Given the description of an element on the screen output the (x, y) to click on. 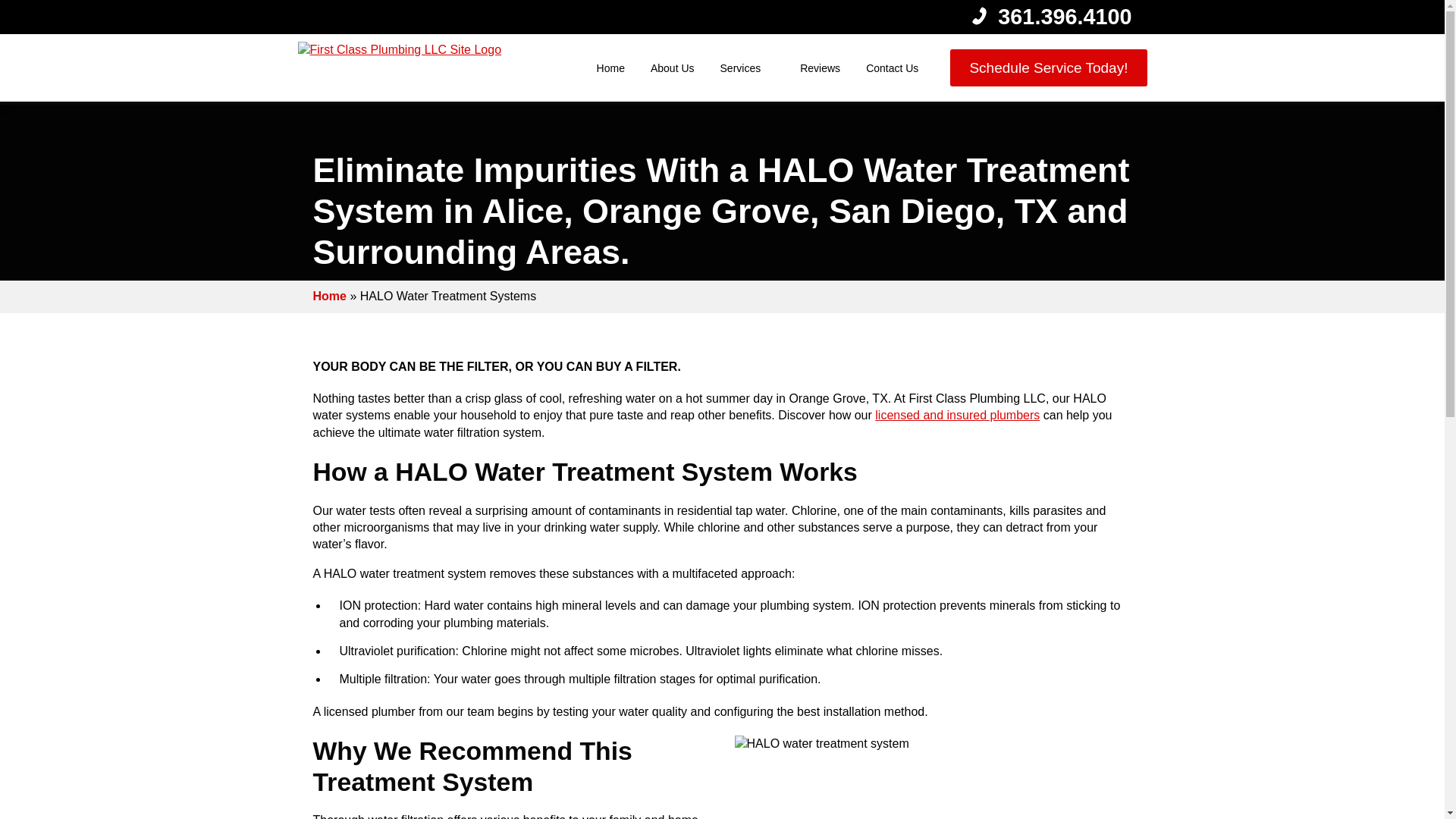
Services (737, 67)
361.396.4100 (1064, 17)
About Us (672, 67)
Schedule Service Today! (1048, 67)
Reviews (819, 67)
Home (610, 67)
Home (329, 295)
Contact Us (891, 67)
licensed and insured plumbers (957, 414)
